Given the description of an element on the screen output the (x, y) to click on. 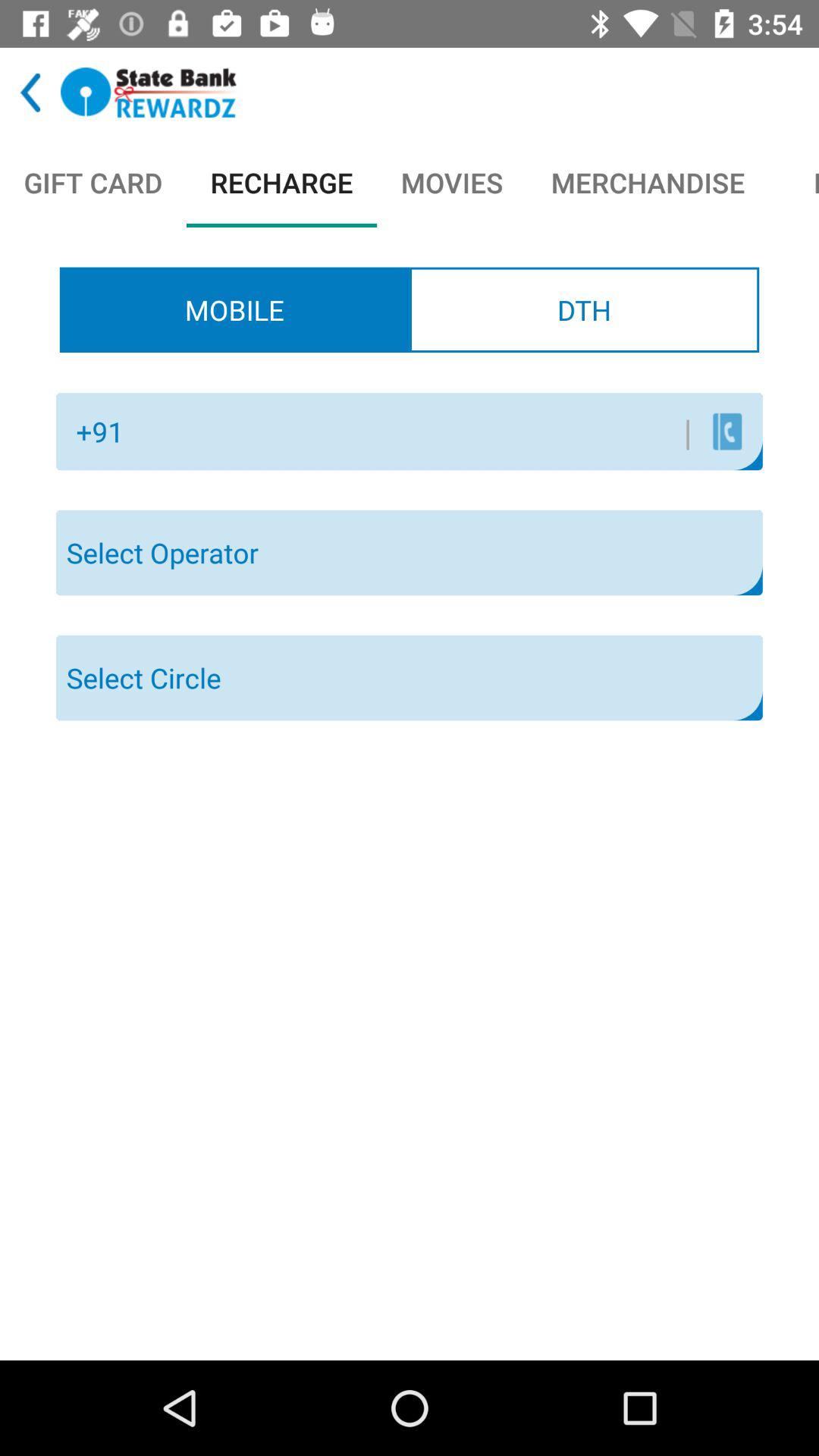
tap dth item (584, 309)
